Given the description of an element on the screen output the (x, y) to click on. 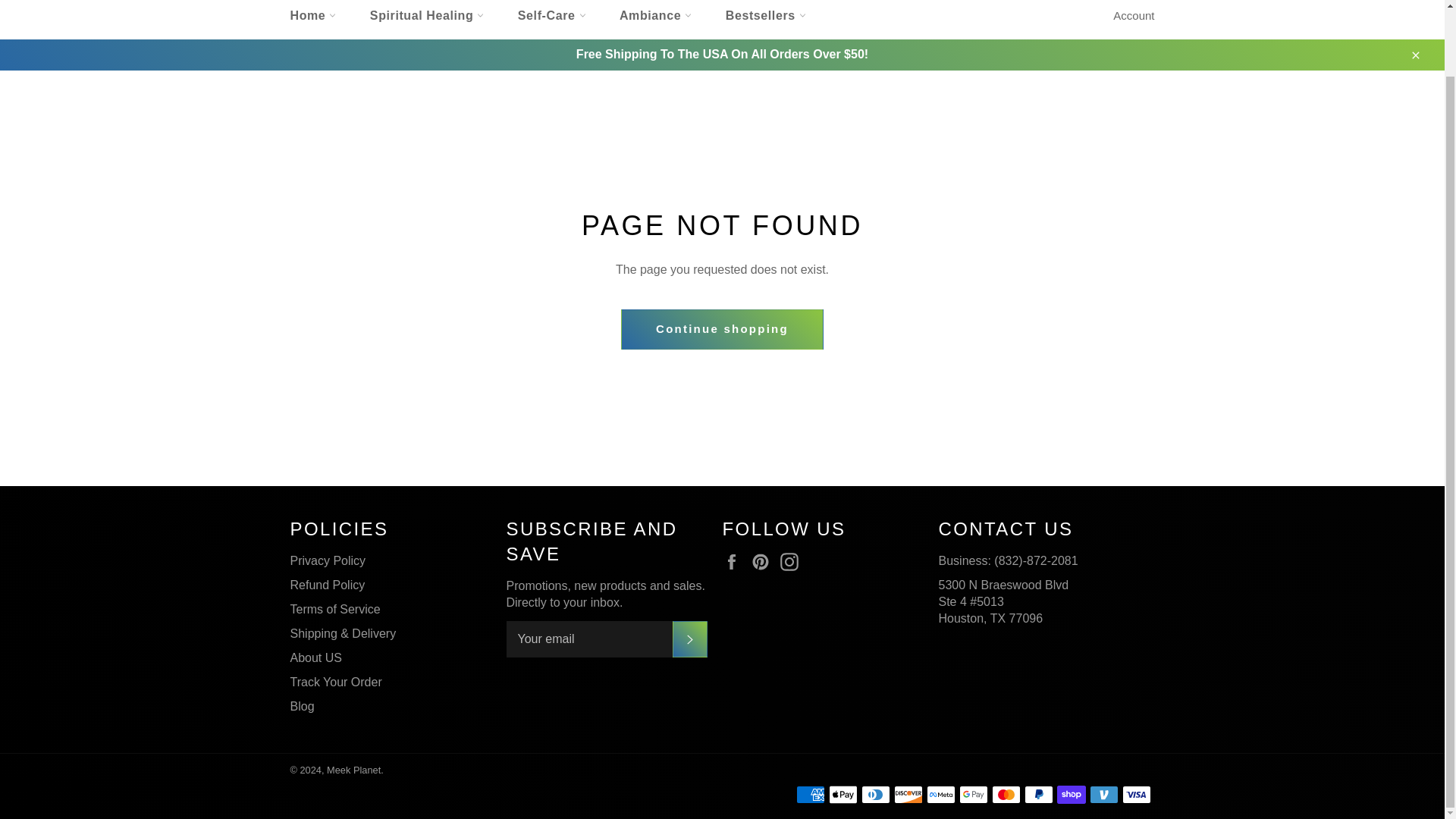
Spiritual Healing (427, 19)
Meek Planet on Instagram (793, 561)
Meek Planet on Pinterest (764, 561)
Home (312, 19)
Meek Planet on Facebook (735, 561)
